Given the description of an element on the screen output the (x, y) to click on. 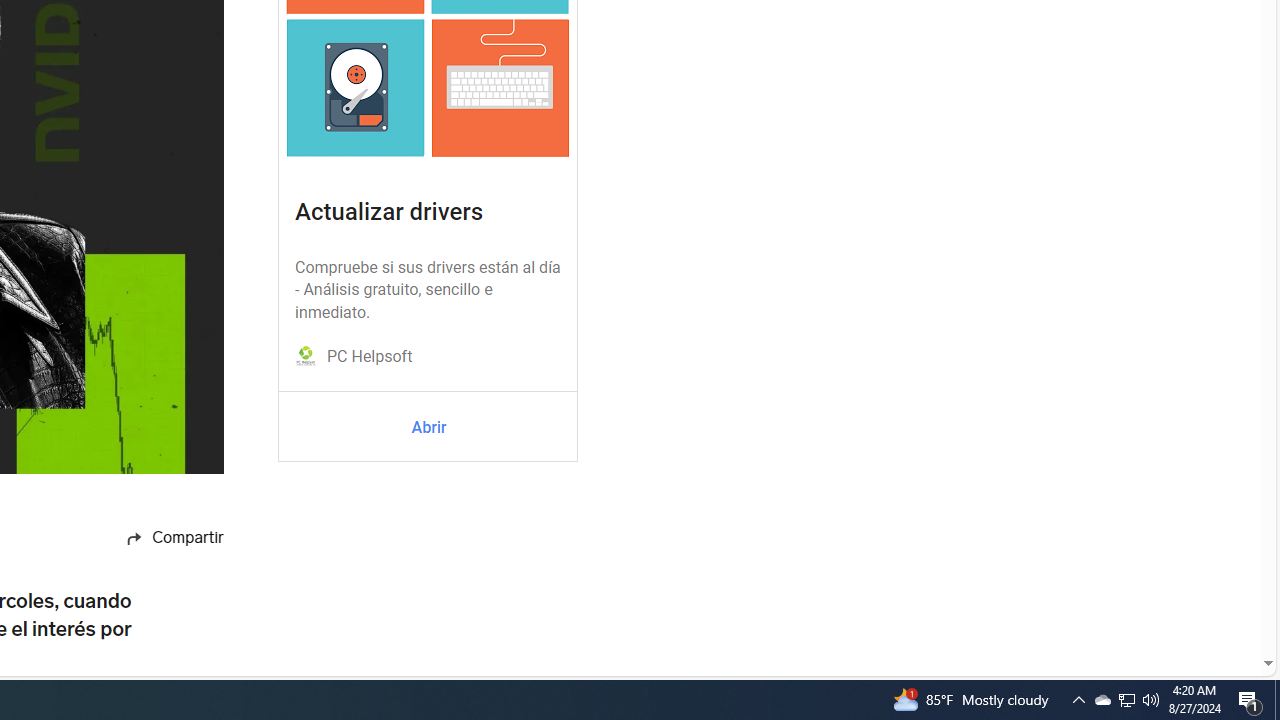
Share icon (134, 538)
Actualizar drivers (388, 211)
Flipboard (153, 609)
Abrir (427, 427)
Share icon Compartir (153, 538)
Facebook (153, 570)
Twitter (153, 686)
To get missing image descriptions, open the context menu. (305, 355)
To get missing image descriptions, open the context menu. (305, 357)
Whatsapp (153, 646)
PC Helpsoft (369, 357)
